Given the description of an element on the screen output the (x, y) to click on. 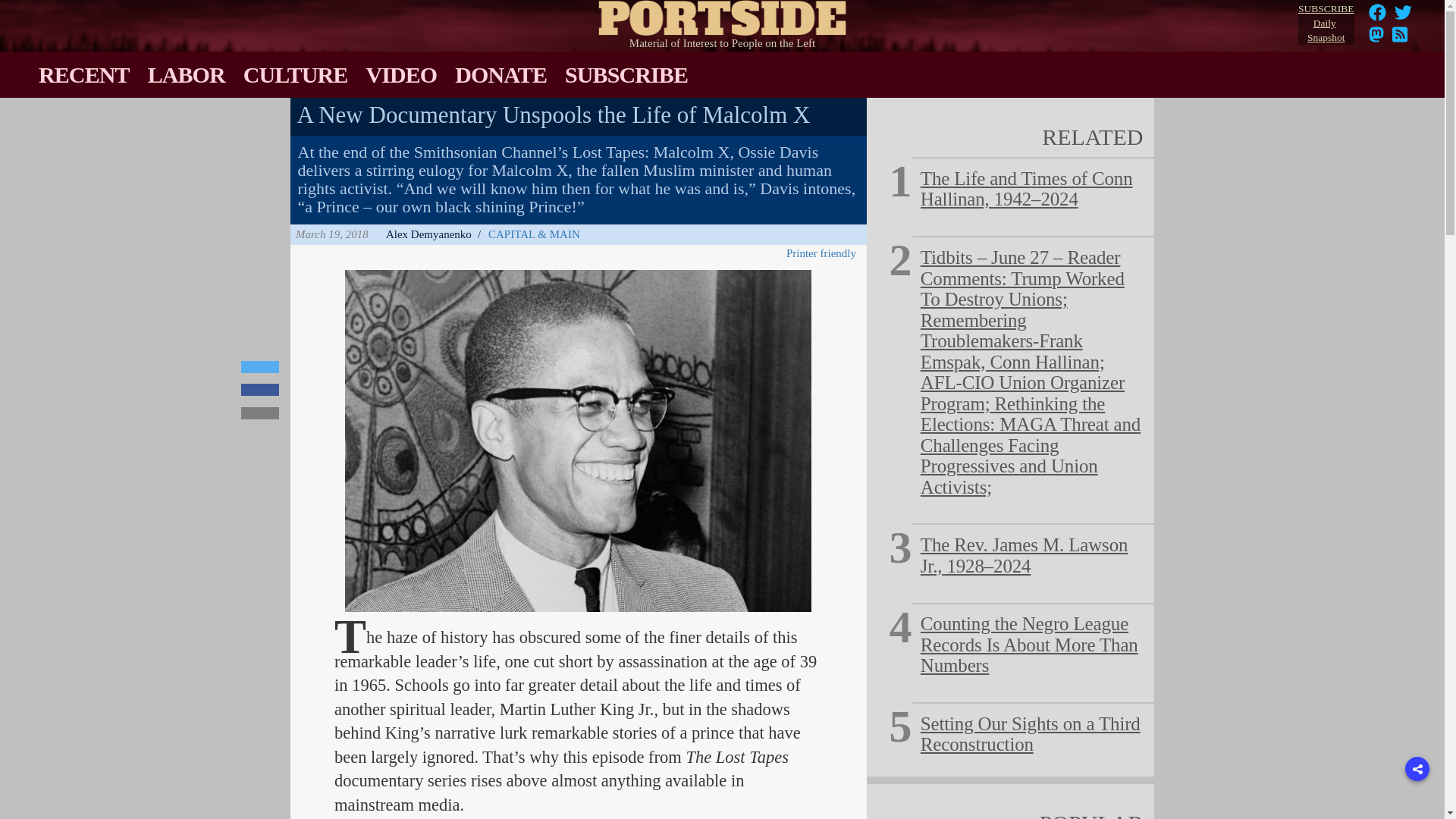
LABOR (1326, 23)
Counting the Negro League Records Is About More Than Numbers (186, 74)
Portside Labor articles (1029, 644)
Facebook (186, 74)
DONATE (1377, 16)
RSS (500, 74)
Mastodon (1399, 39)
The most recent news articles (1376, 39)
Twitter (83, 74)
CULTURE (260, 367)
Twitter (295, 74)
Follow Portside on Twitter (1403, 11)
Home (1403, 16)
Facebook (722, 14)
